Given the description of an element on the screen output the (x, y) to click on. 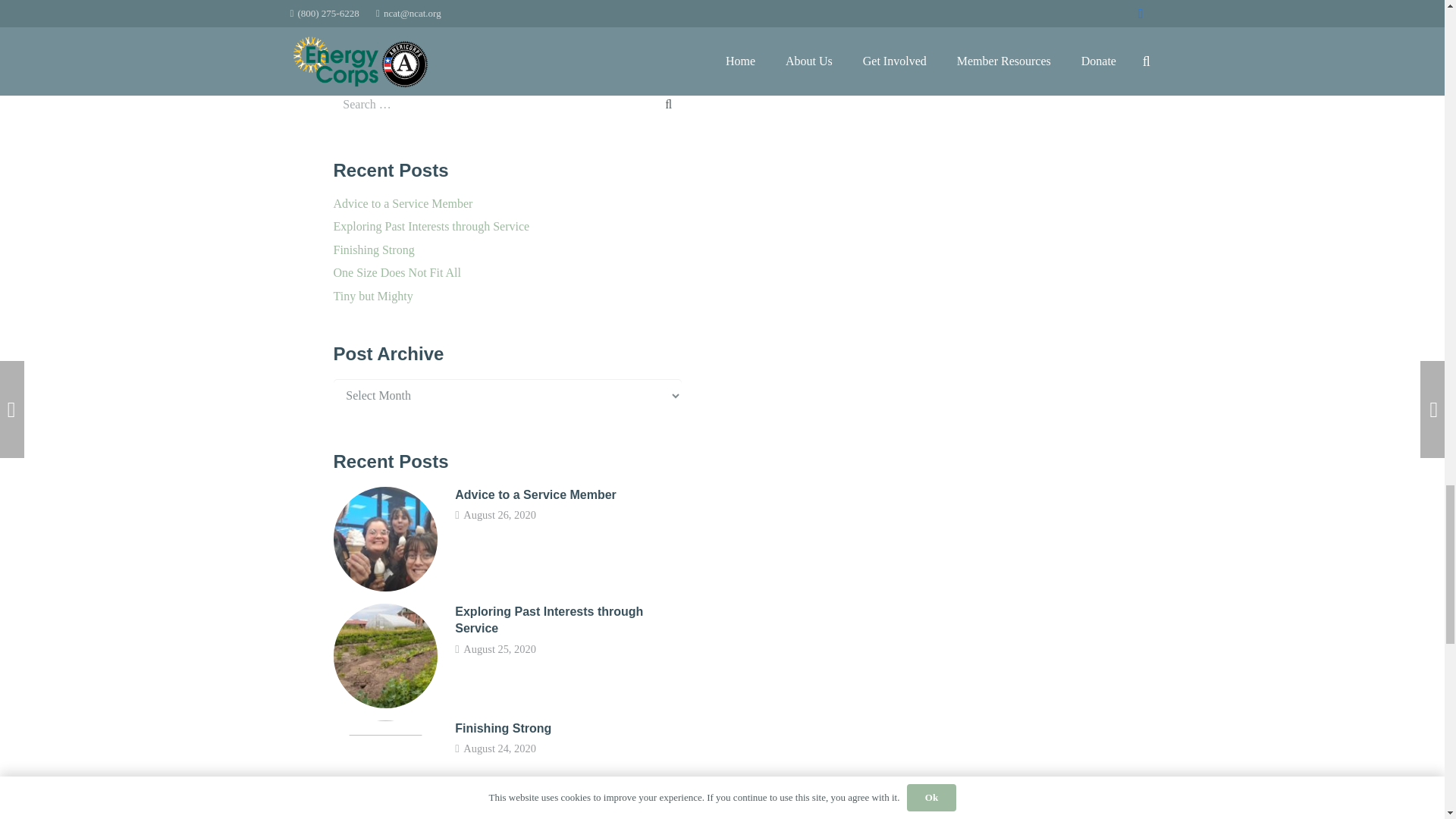
Exploring Past Interests through Service (431, 226)
Tiny but Mighty (373, 295)
Advice to a Service Member (534, 494)
Search (661, 104)
One Size Does Not Fit All (397, 272)
Advice to a Service Member (403, 203)
Finishing Strong (373, 249)
